Given the description of an element on the screen output the (x, y) to click on. 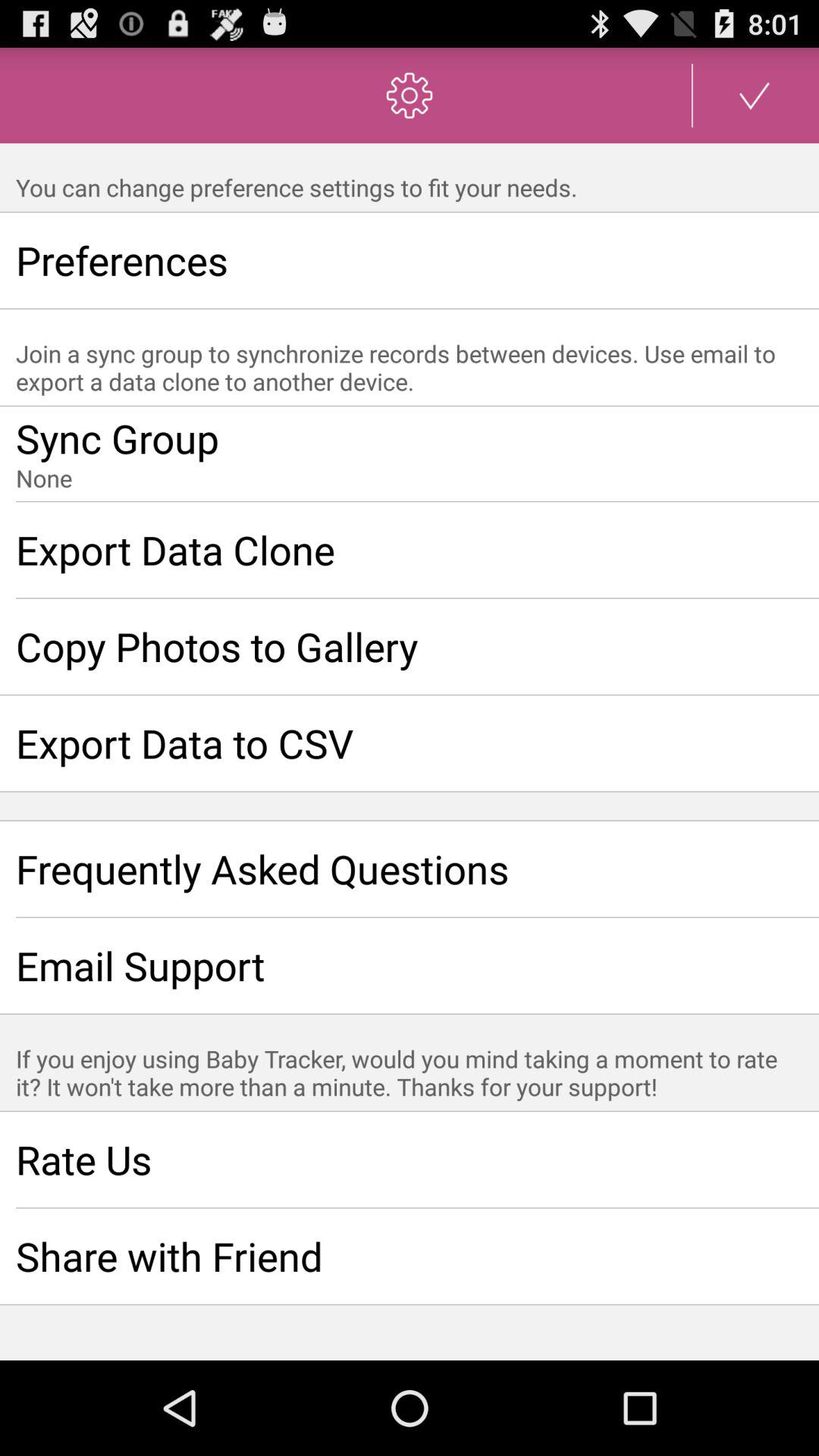
scroll until copy photos to icon (409, 646)
